Given the description of an element on the screen output the (x, y) to click on. 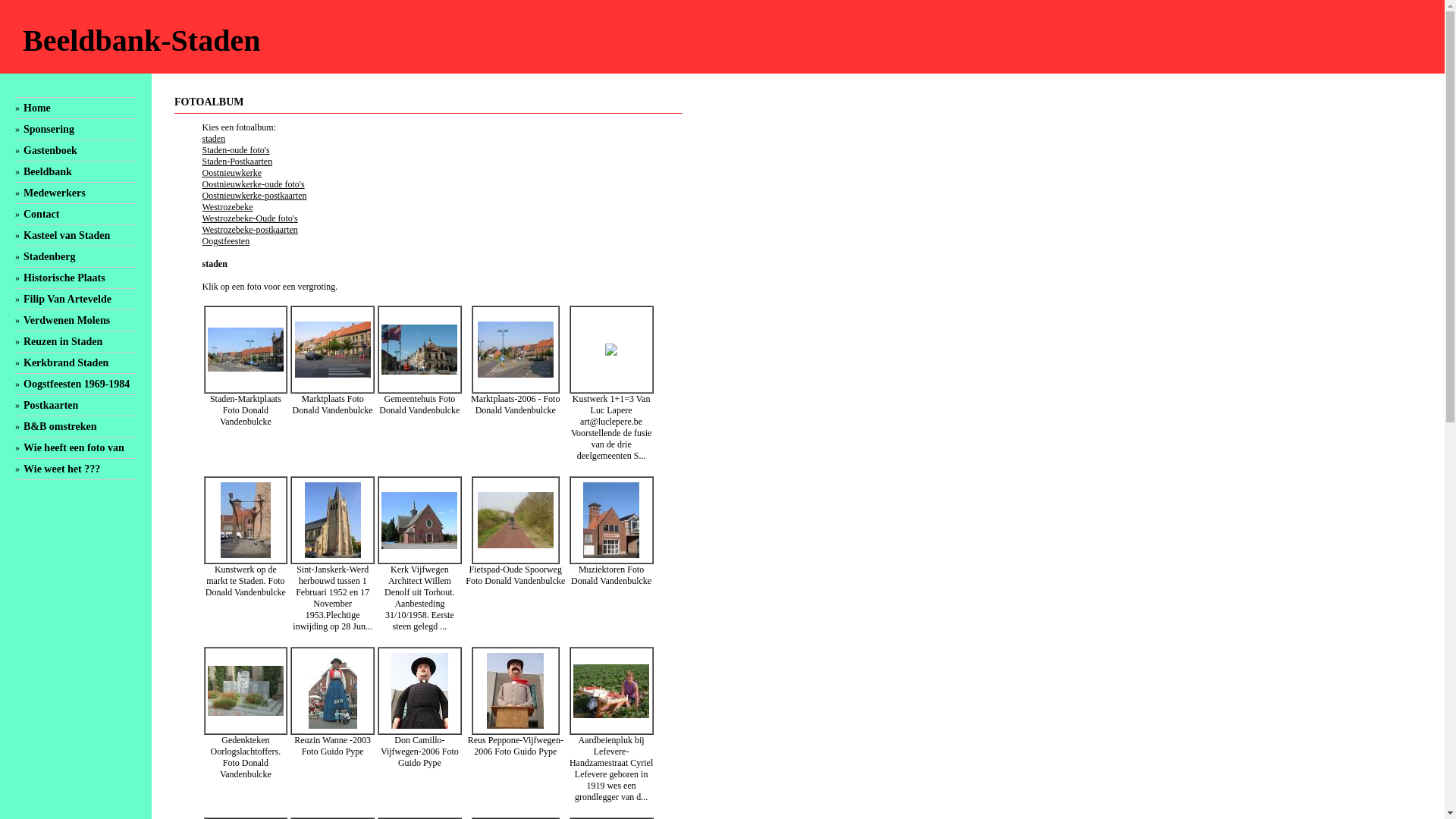
staden Element type: text (213, 138)
Westrozebeke-Oude foto's Element type: text (249, 218)
Historische Plaats Element type: text (64, 277)
Beeldbank-Staden Element type: text (141, 40)
Contact Element type: text (41, 213)
Kerkbrand Staden Element type: text (65, 362)
Reuzen in Staden Element type: text (62, 341)
Home Element type: text (36, 107)
Postkaarten Element type: text (50, 405)
Oostnieuwkerke Element type: text (231, 172)
Oostnieuwkerke-oude foto's Element type: text (252, 183)
Beeldbank Element type: text (47, 171)
Westrozebeke-postkaarten Element type: text (249, 229)
Wie heeft een foto van Element type: text (73, 447)
Staden-oude foto's Element type: text (235, 149)
Stadenberg Element type: text (49, 256)
Sponsering Element type: text (48, 128)
Oostnieuwkerke-postkaarten Element type: text (253, 195)
Wie weet het ??? Element type: text (61, 468)
Filip Van Artevelde Element type: text (67, 298)
Oogstfeesten Element type: text (225, 240)
Verdwenen Molens Element type: text (66, 320)
Staden-Postkaarten Element type: text (236, 161)
B&B omstreken Element type: text (60, 426)
Oogstfeesten 1969-1984 Element type: text (76, 383)
Gastenboek Element type: text (50, 150)
Kasteel van Staden Element type: text (66, 235)
Westrozebeke Element type: text (226, 206)
Medewerkers Element type: text (54, 192)
